Given the description of an element on the screen output the (x, y) to click on. 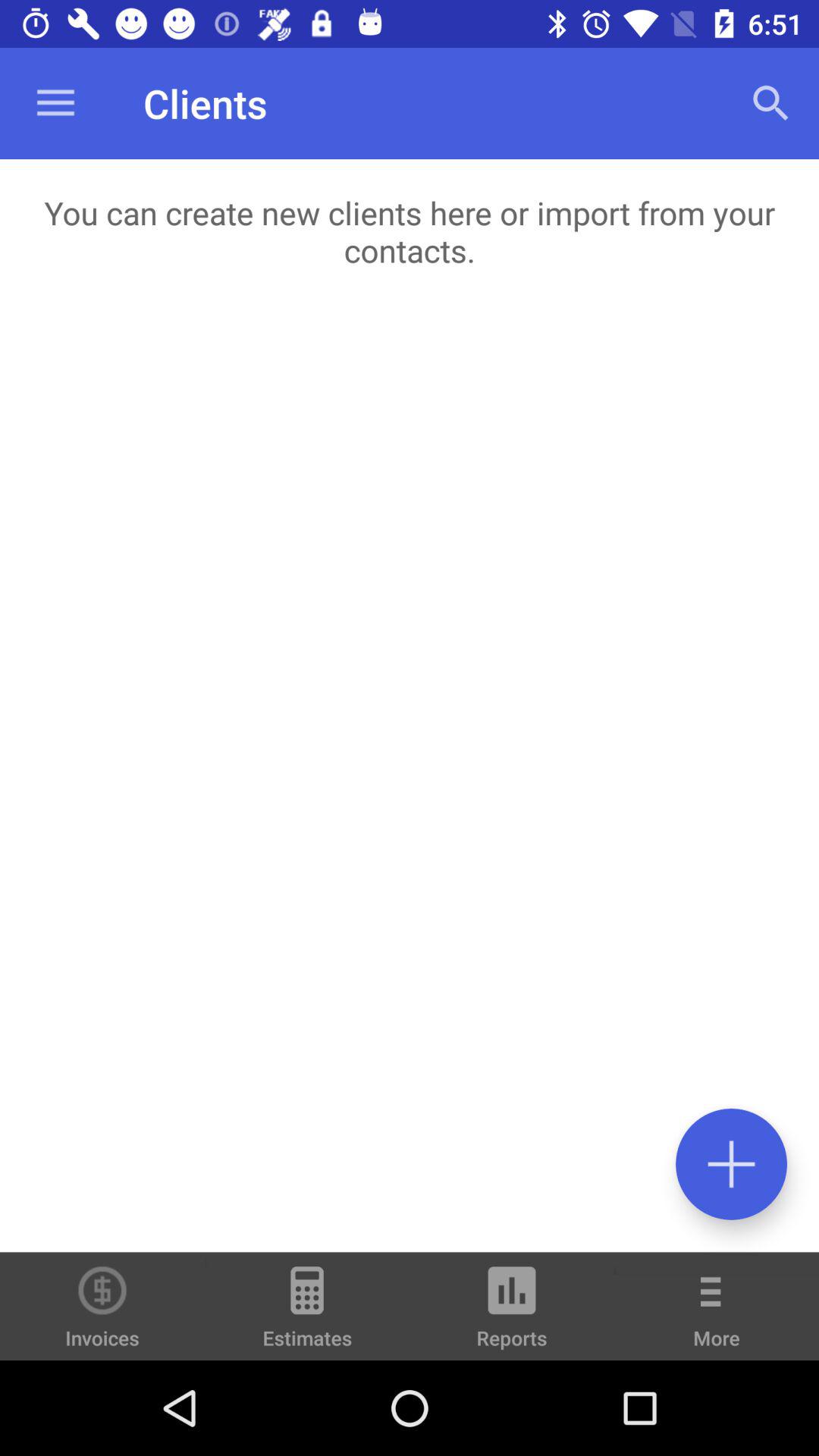
press the reports icon (511, 1313)
